Given the description of an element on the screen output the (x, y) to click on. 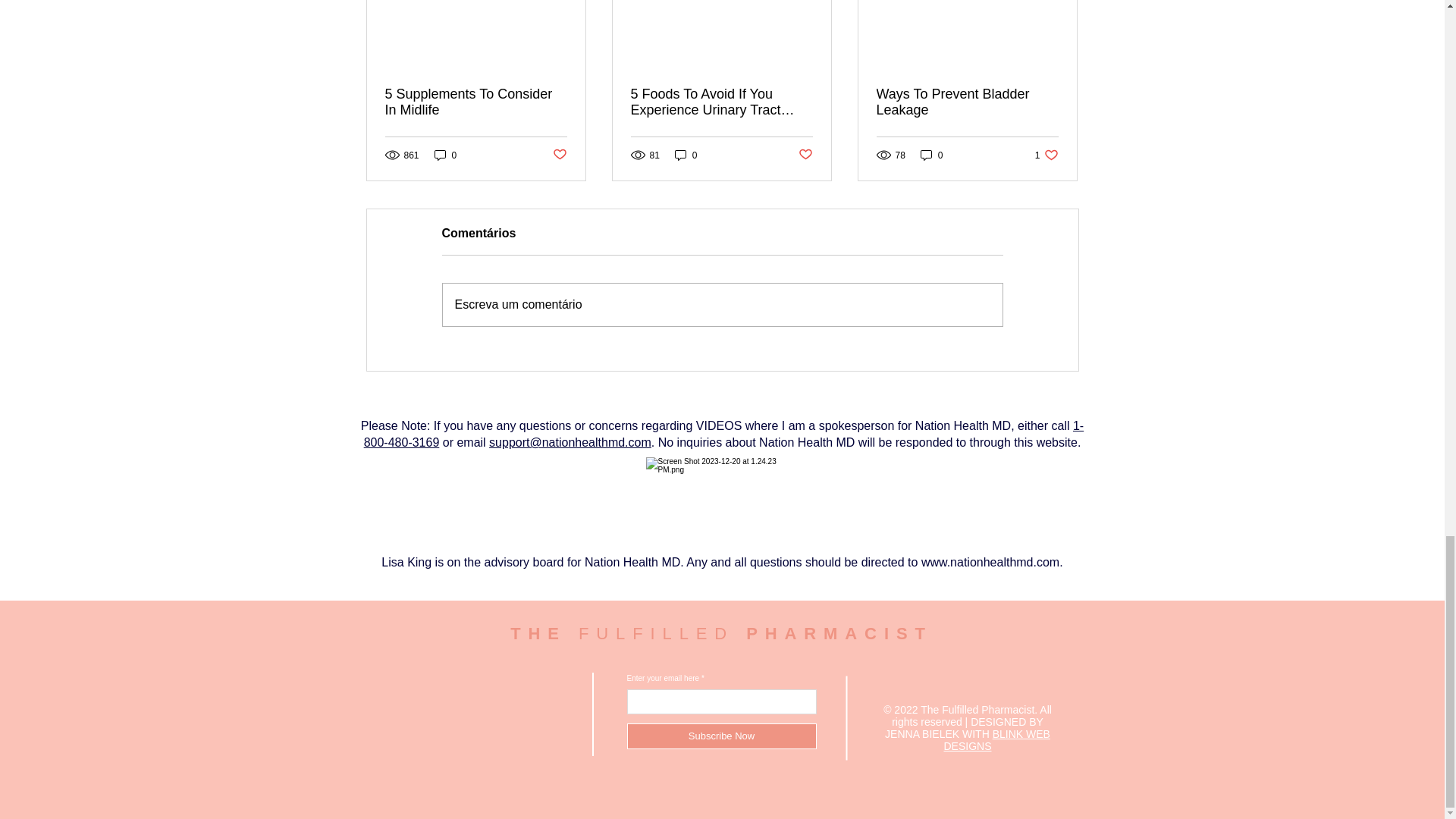
0 (445, 155)
Ways To Prevent Bladder Leakage (967, 101)
Post not marked as liked (804, 154)
5 Supplements To Consider In Midlife (476, 101)
0 (931, 155)
5 Foods To Avoid If You Experience Urinary Tract Infections (721, 101)
Post not marked as liked (558, 154)
0 (685, 155)
